Given the description of an element on the screen output the (x, y) to click on. 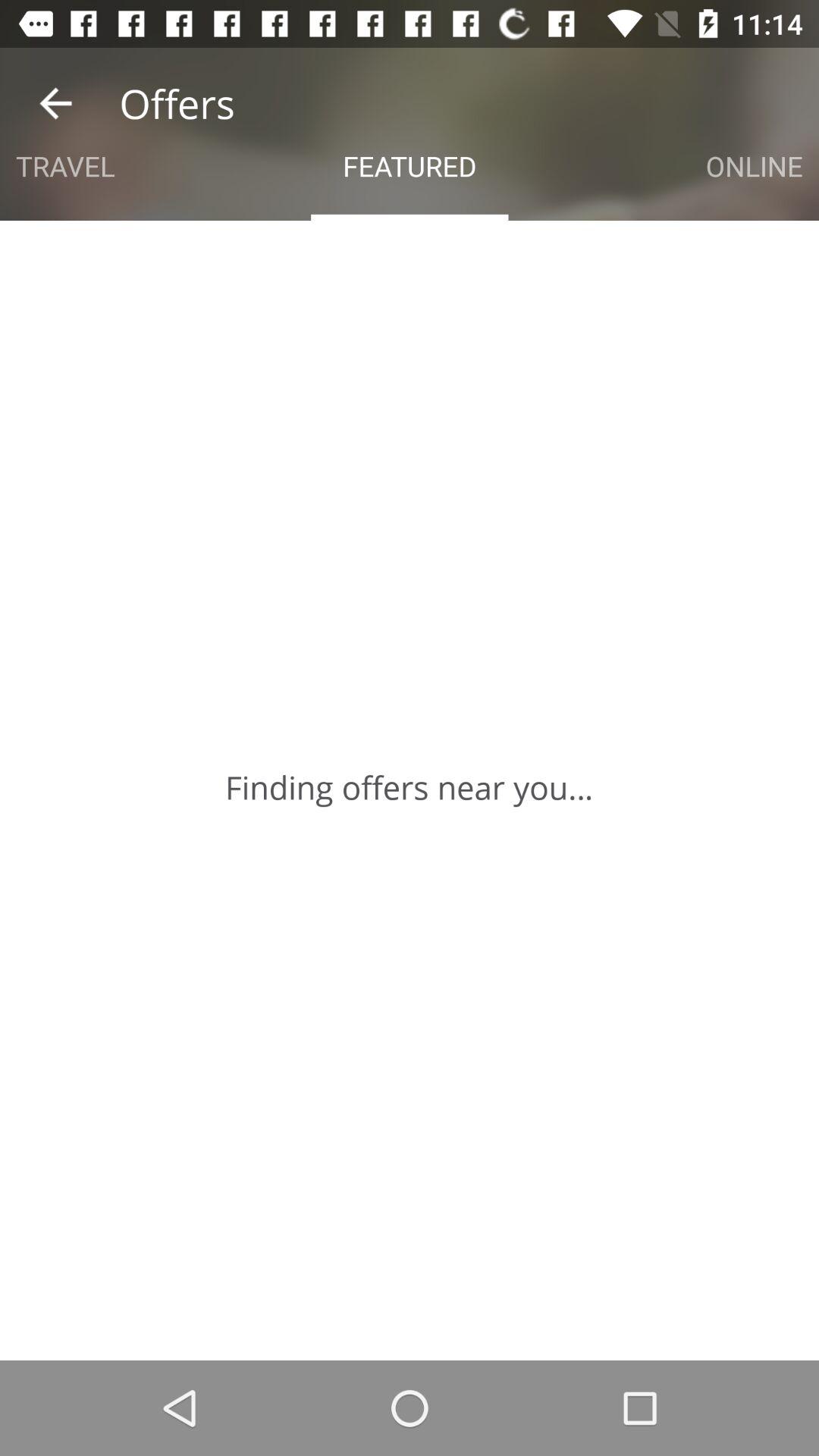
click the app next to offers icon (55, 103)
